Given the description of an element on the screen output the (x, y) to click on. 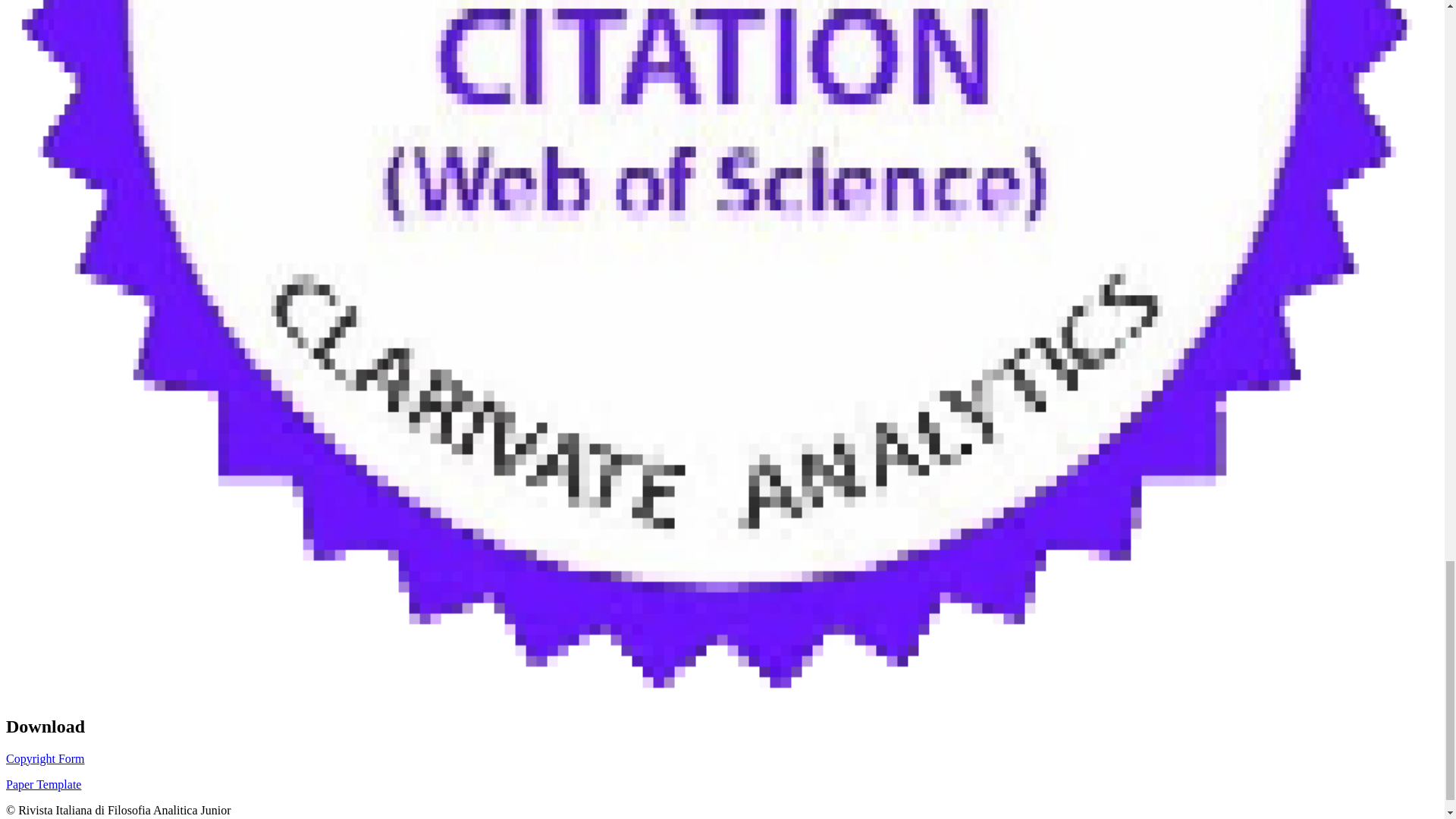
Copyright Form (44, 758)
Paper Template (43, 784)
